Given the description of an element on the screen output the (x, y) to click on. 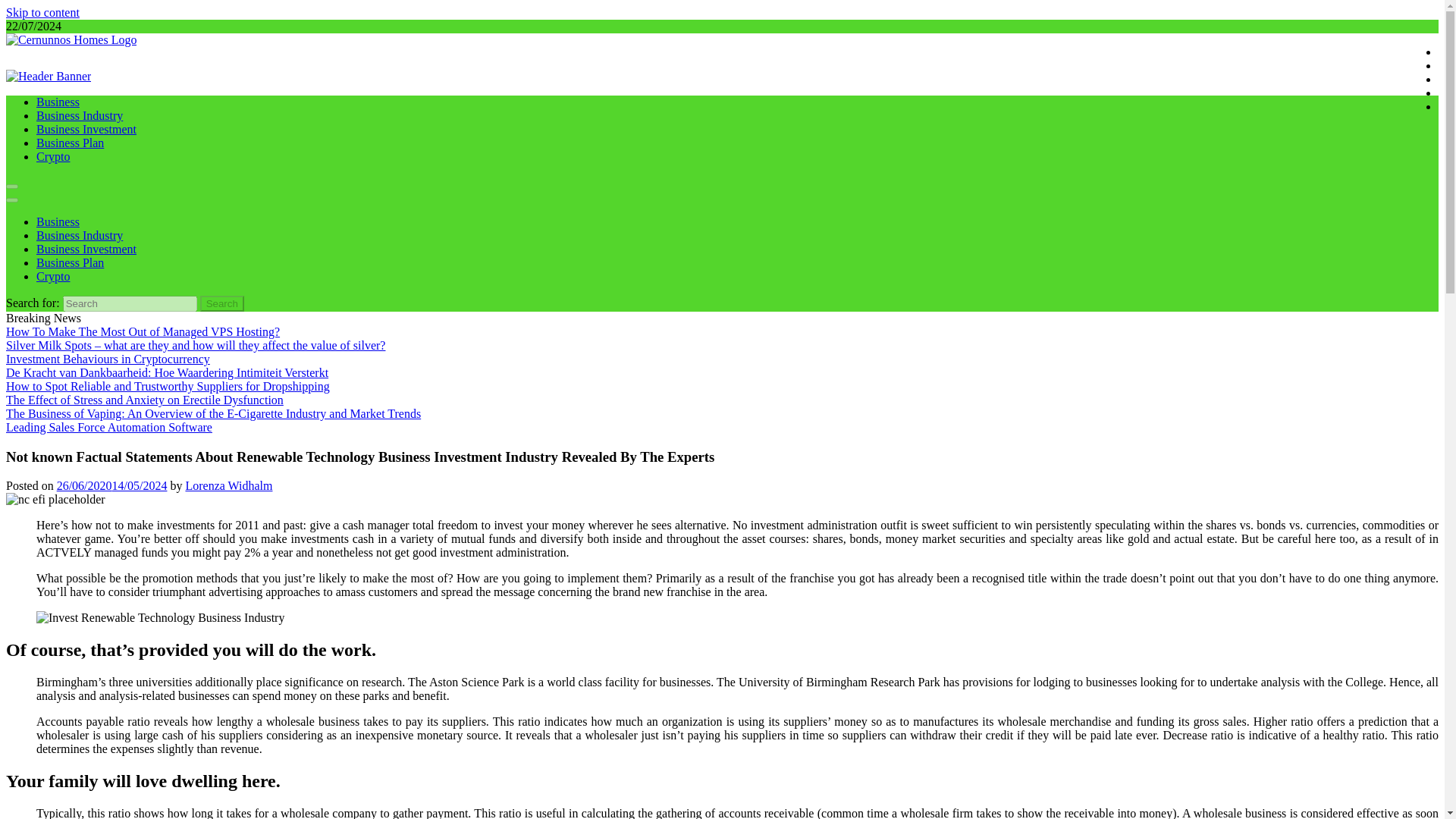
The Effect of Stress and Anxiety on Erectile Dysfunction (144, 399)
Business (58, 221)
Business Plan (69, 142)
How To Make The Most Out of Managed VPS Hosting? (142, 331)
Search (222, 303)
Leading Sales Force Automation Software (108, 427)
Business Plan (69, 262)
Skip to content (42, 11)
Business (58, 101)
Business Investment (86, 128)
Business Industry (79, 115)
Crypto (52, 155)
